Given the description of an element on the screen output the (x, y) to click on. 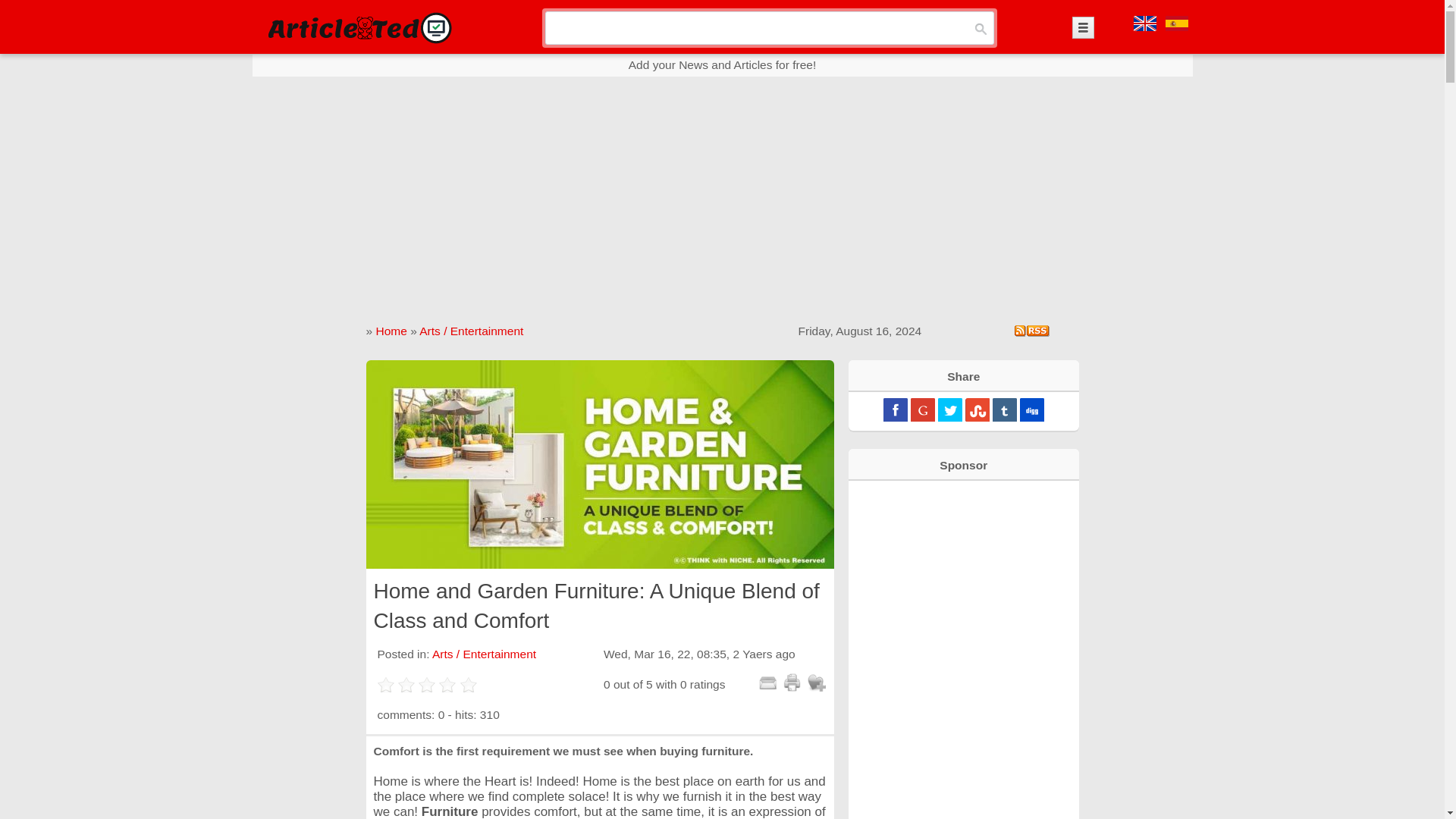
ArticleTed -  News and Articles (357, 27)
Home (390, 330)
